Given the description of an element on the screen output the (x, y) to click on. 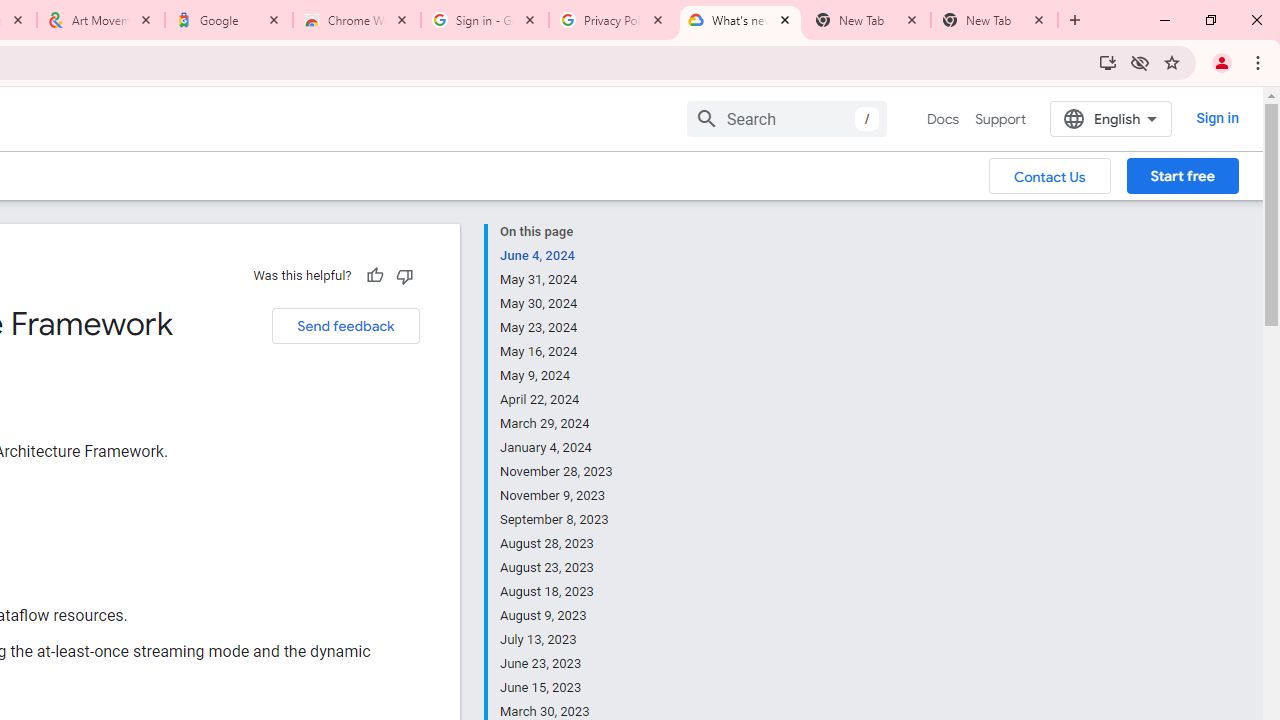
January 4, 2024 (557, 448)
August 28, 2023 (557, 543)
July 13, 2023 (557, 639)
August 23, 2023 (557, 567)
Not helpful (404, 275)
Search (786, 118)
May 16, 2024 (557, 351)
Contact Us (1050, 175)
Google (229, 20)
June 4, 2024 (557, 255)
Start free (1182, 175)
Sign in - Google Accounts (485, 20)
June 23, 2023 (557, 664)
August 9, 2023 (557, 615)
